Given the description of an element on the screen output the (x, y) to click on. 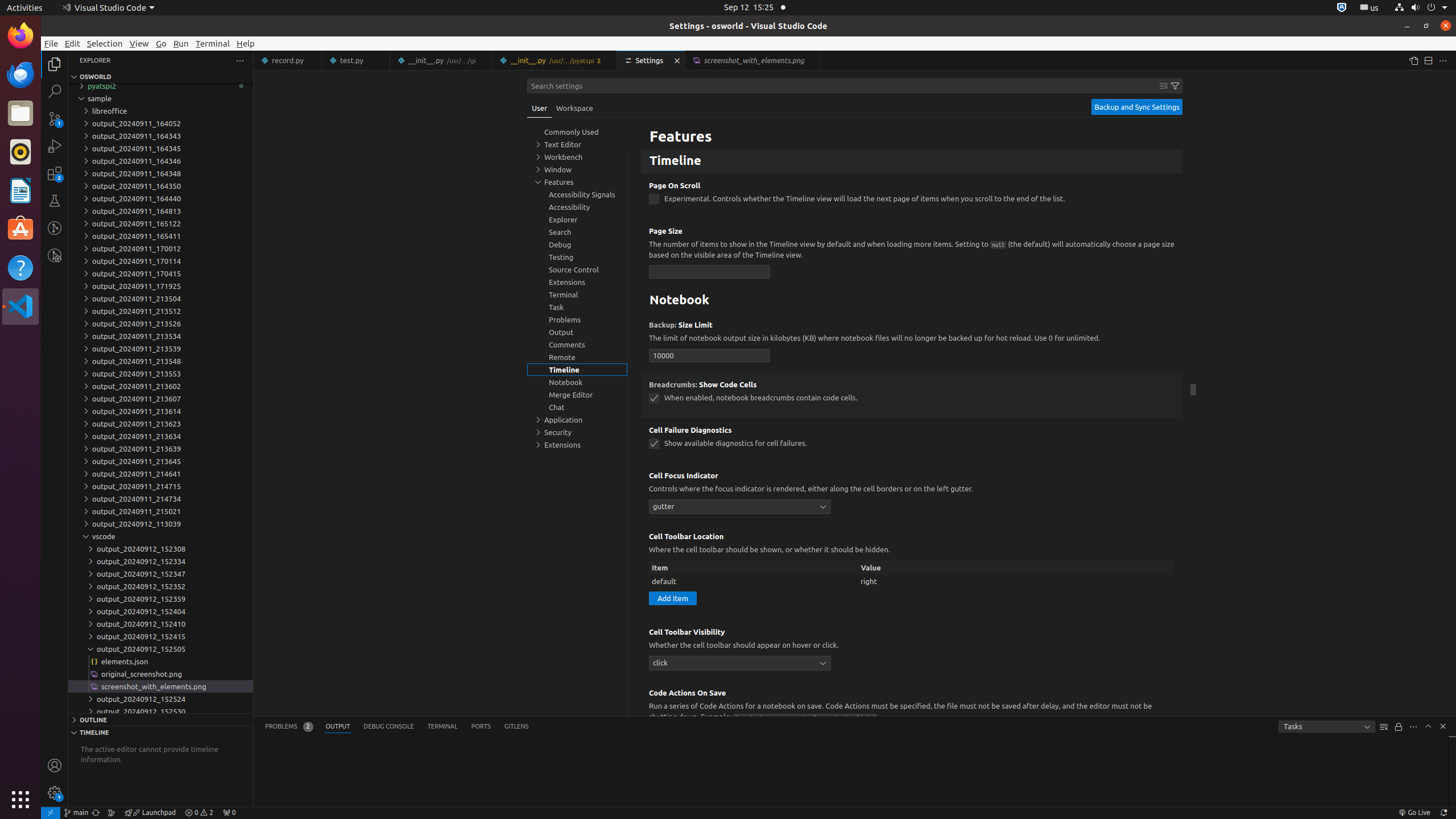
output_20240912_152410 Element type: tree-item (160, 623)
Chat, group Element type: tree-item (577, 406)
output_20240911_170114 Element type: tree-item (160, 260)
Search, group Element type: tree-item (577, 231)
Clear Output Element type: push-button (1383, 726)
